Given the description of an element on the screen output the (x, y) to click on. 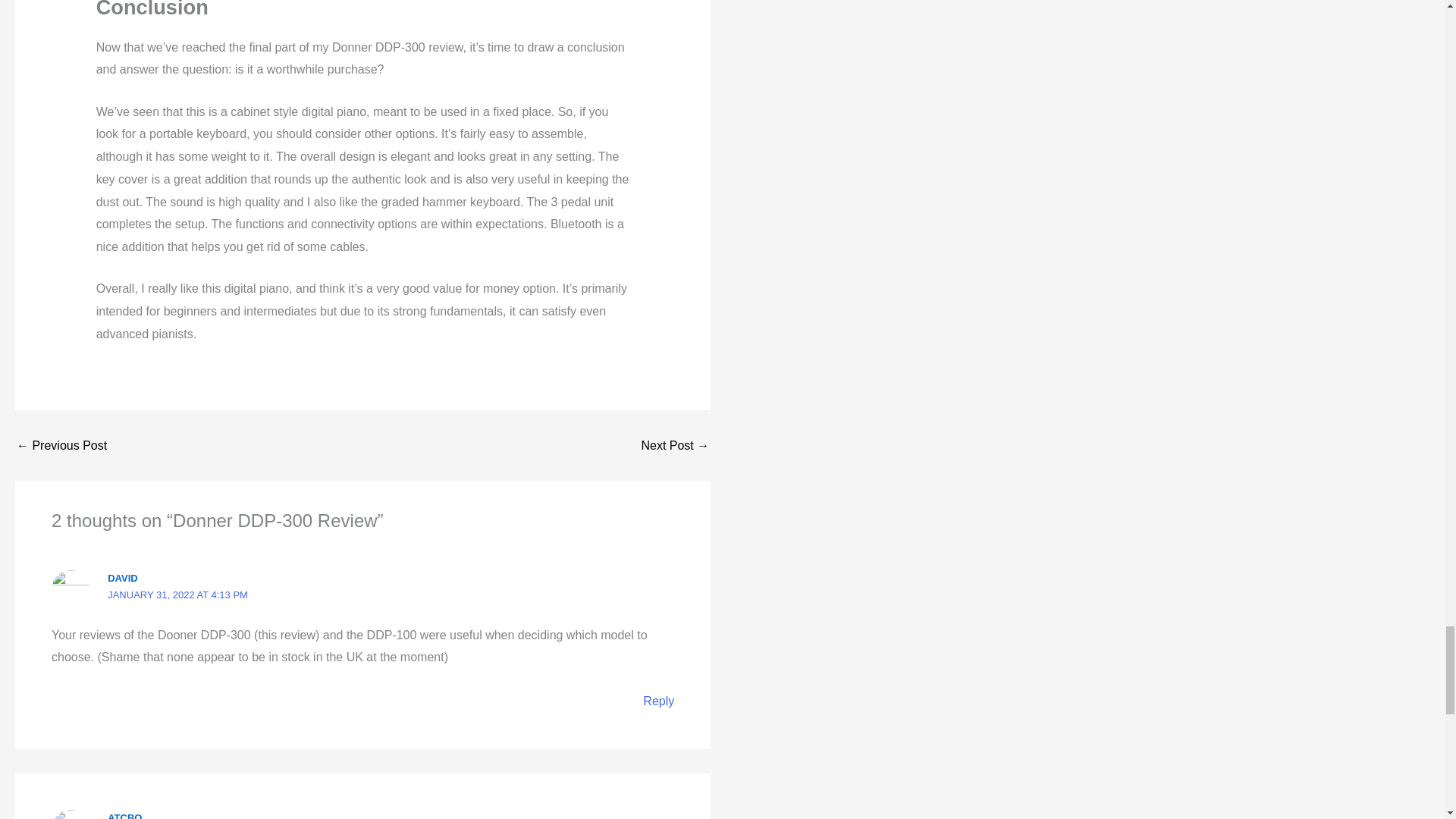
Alesis Virtue Review (674, 445)
Reply (658, 700)
Donner DDP-100 Review (61, 445)
JANUARY 31, 2022 AT 4:13 PM (177, 594)
